Given the description of an element on the screen output the (x, y) to click on. 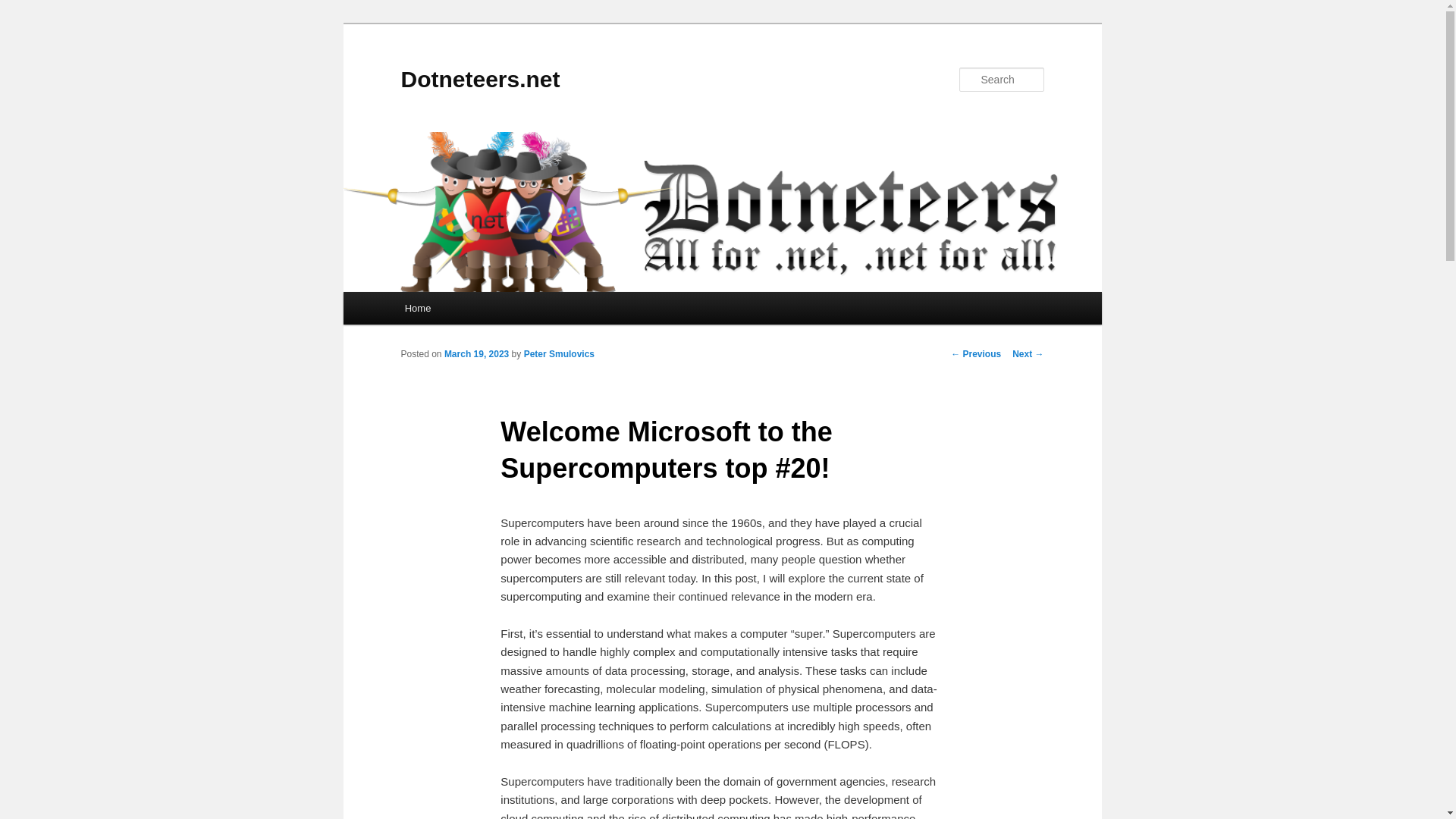
Dotneteers.net (479, 78)
Peter Smulovics (559, 353)
View all posts by Peter Smulovics (559, 353)
March 19, 2023 (476, 353)
10:00 am (476, 353)
Home (417, 307)
Search (24, 8)
